Given the description of an element on the screen output the (x, y) to click on. 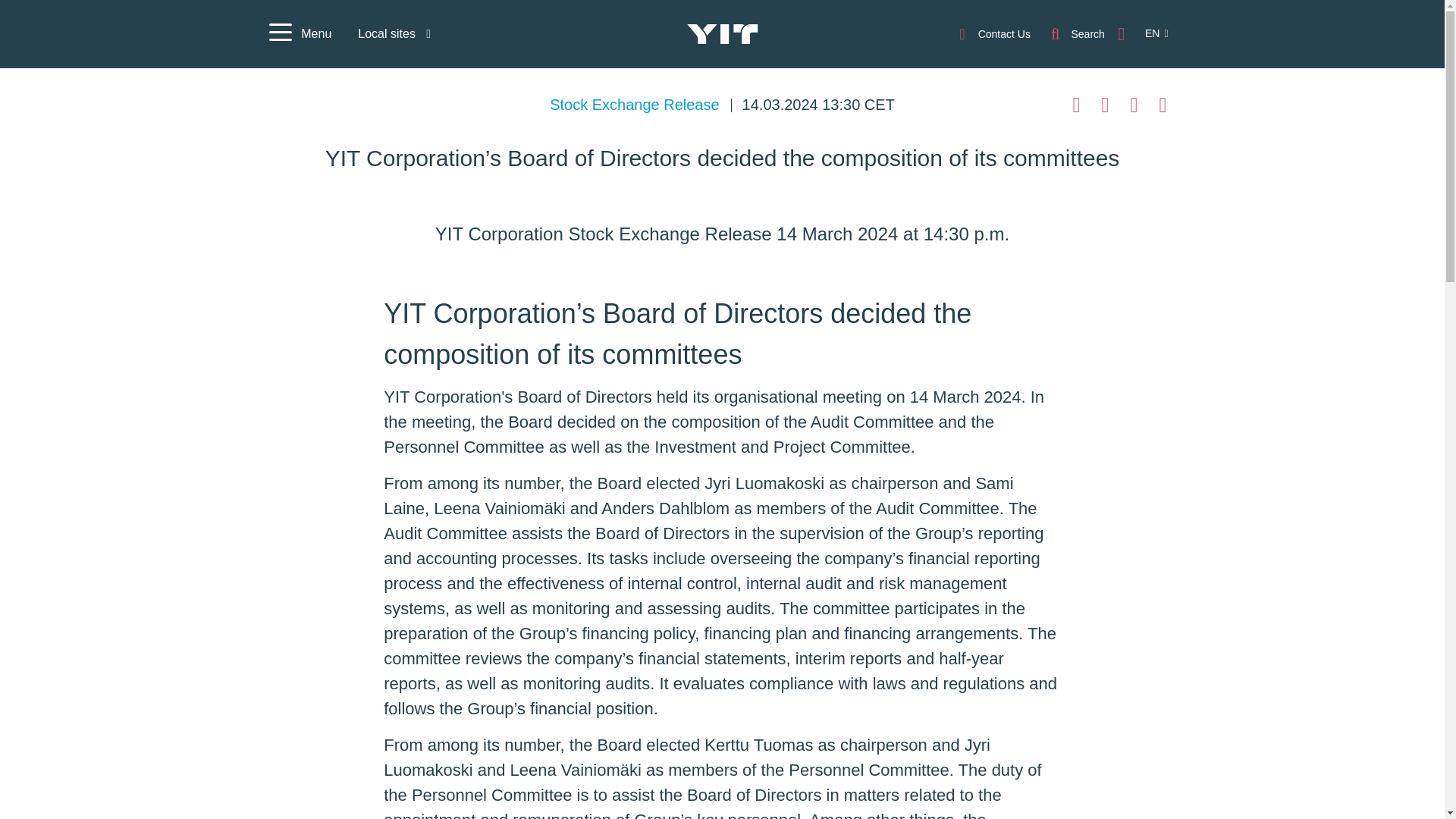
Local sites (393, 33)
Contact Us (992, 33)
Search (1076, 33)
Menu (298, 34)
EN (1147, 33)
